Given the description of an element on the screen output the (x, y) to click on. 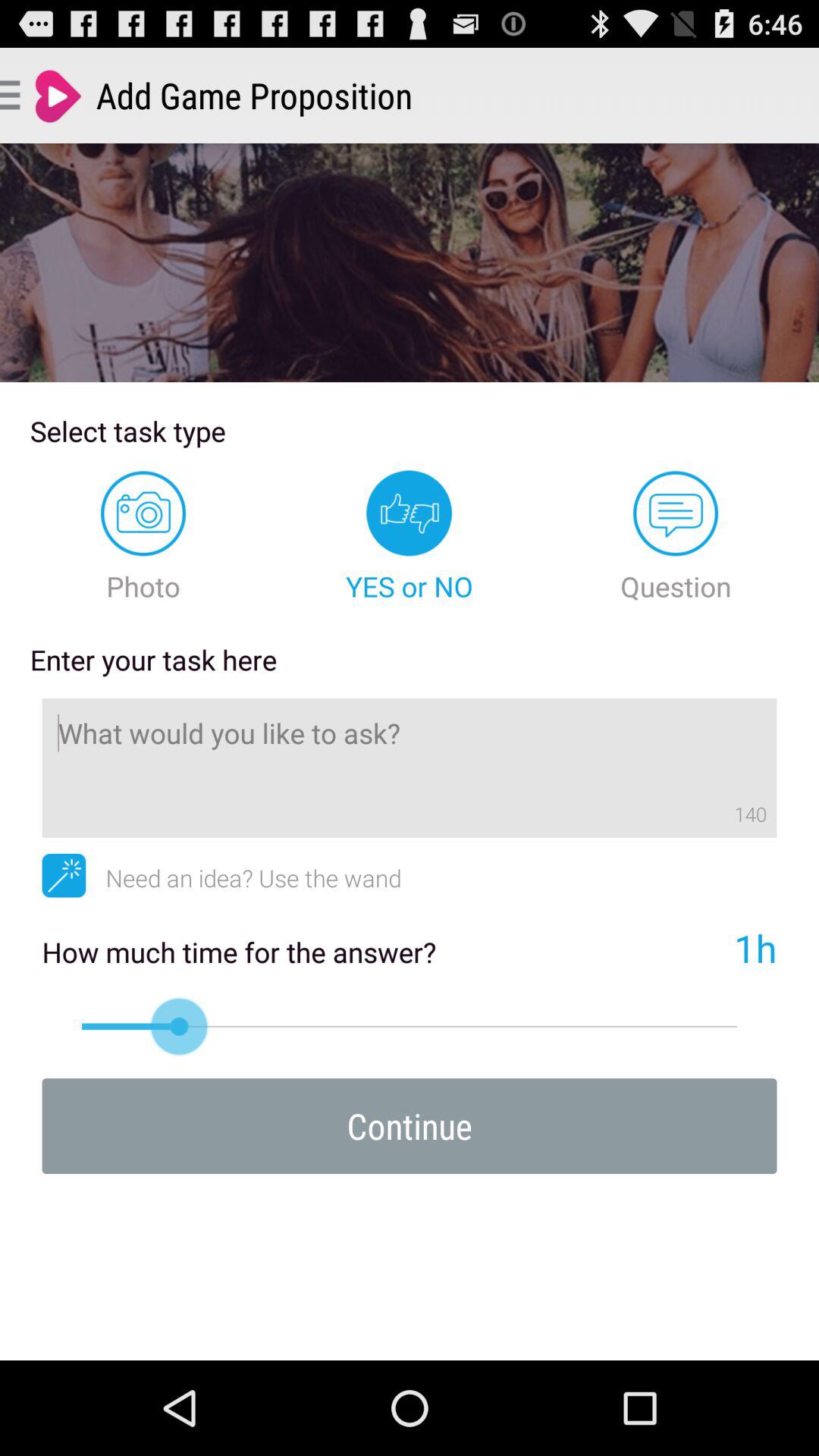
flip to the photo icon (143, 537)
